Given the description of an element on the screen output the (x, y) to click on. 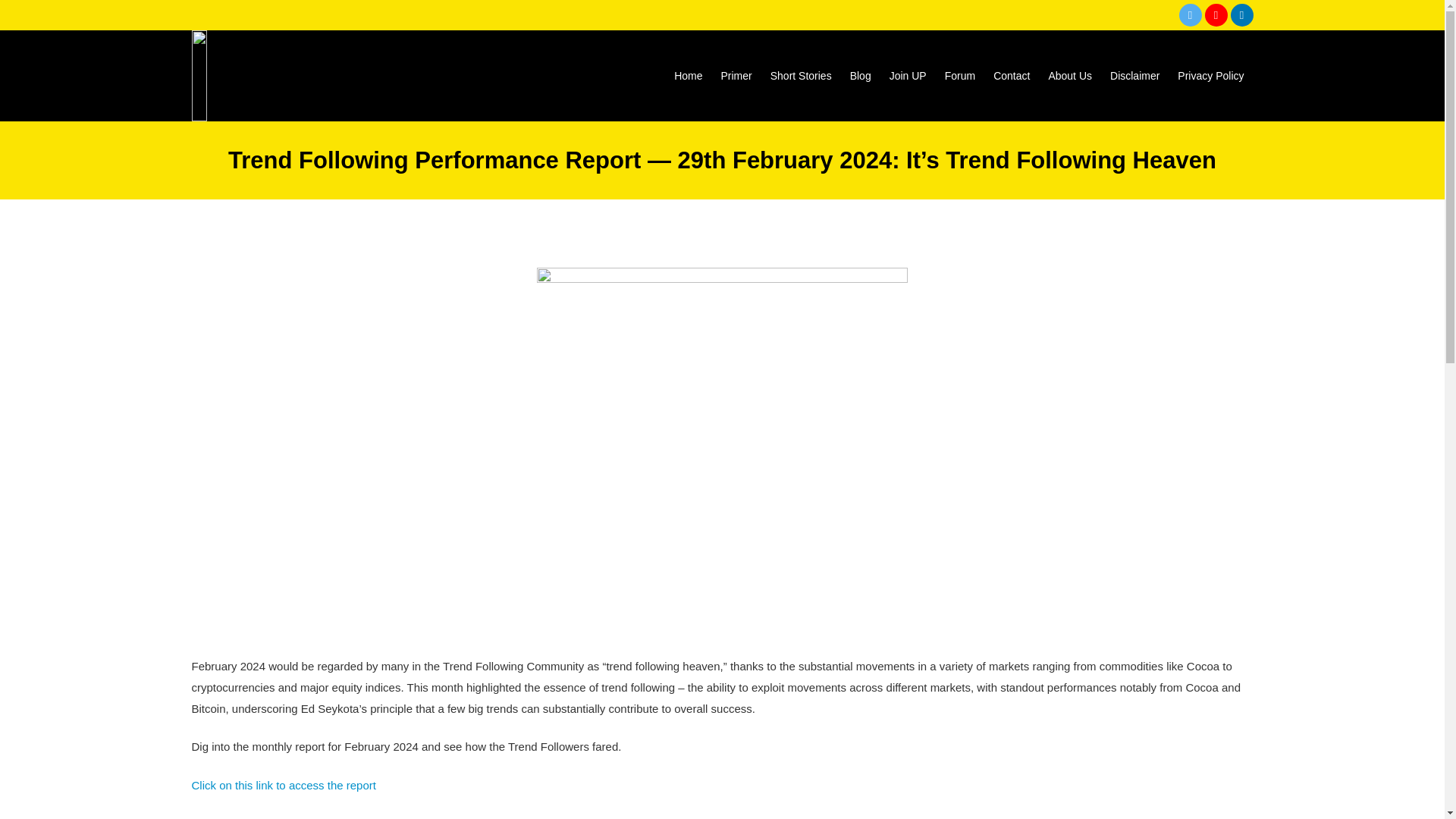
Twitter (1189, 15)
Short Stories (801, 75)
Home (688, 75)
Forum (960, 75)
Blog (860, 75)
About Us (1069, 75)
LinkedIn (1241, 15)
Join UP (908, 75)
Disclaimer (1134, 75)
Contact (1011, 75)
